Given the description of an element on the screen output the (x, y) to click on. 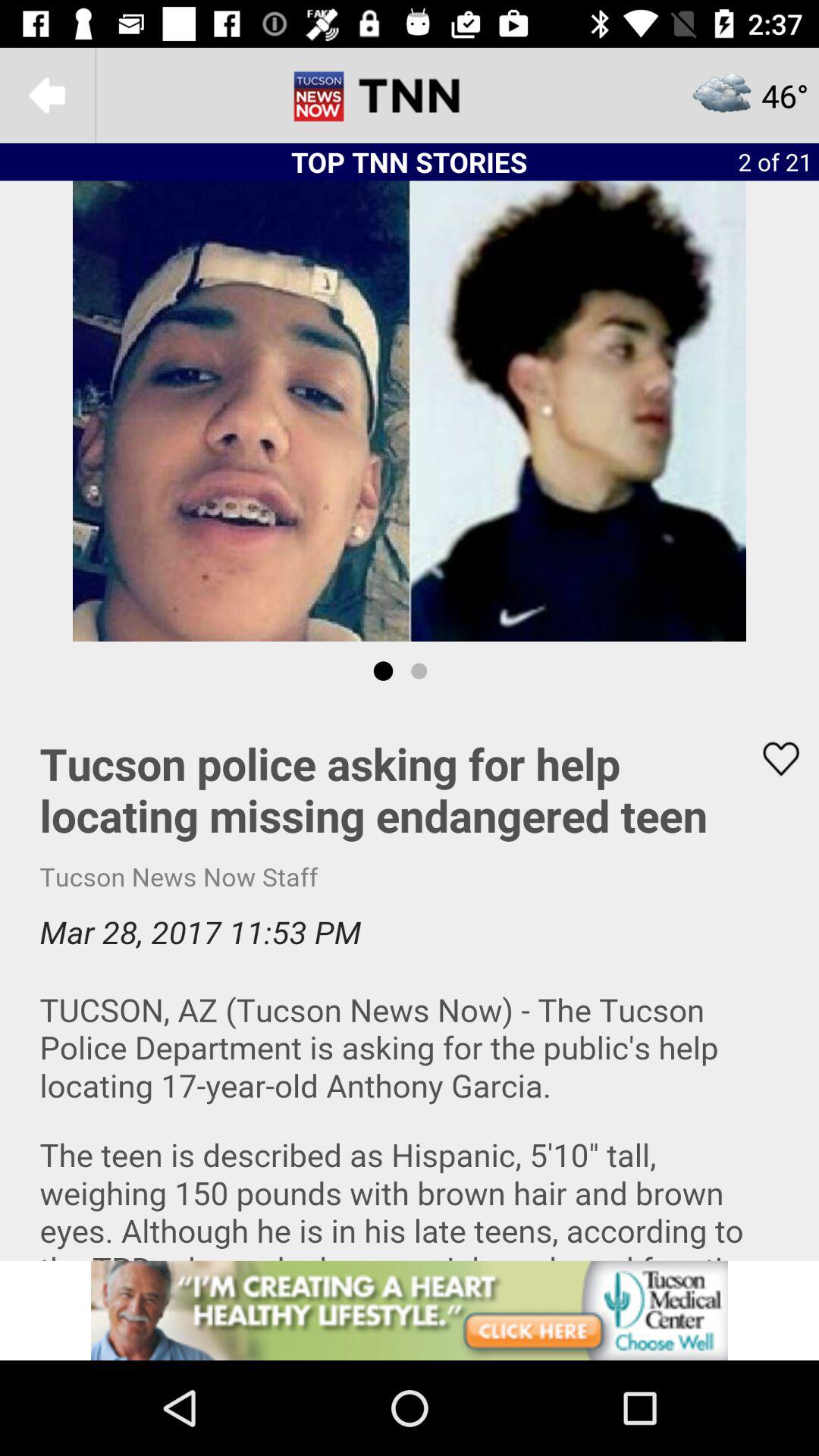
go to home page (409, 95)
